Given the description of an element on the screen output the (x, y) to click on. 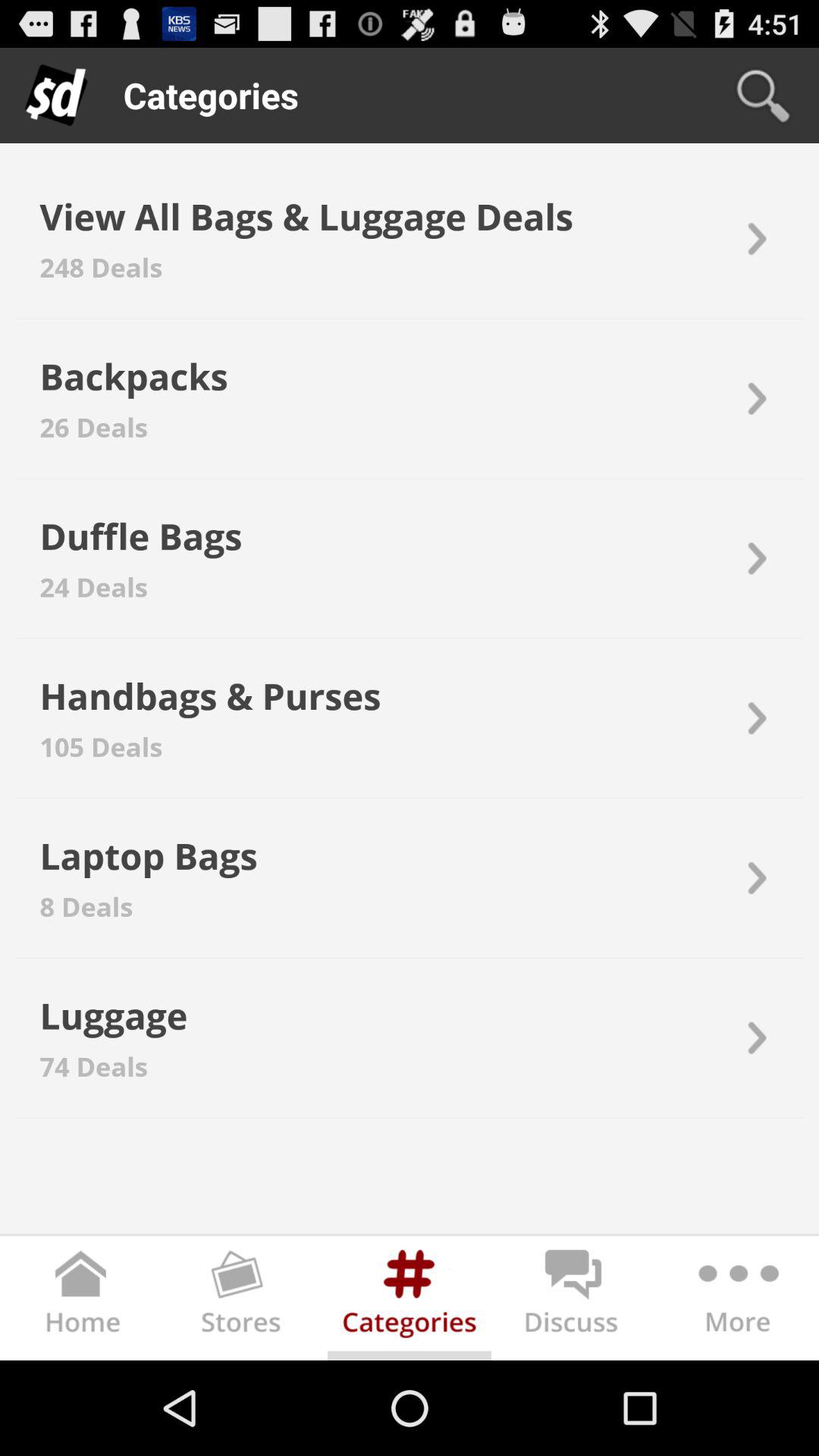
click on the button in the second option (754, 397)
click on the search button at top corner of the page (763, 95)
click on icon on the right side of handbags  bags (754, 718)
